Given the description of an element on the screen output the (x, y) to click on. 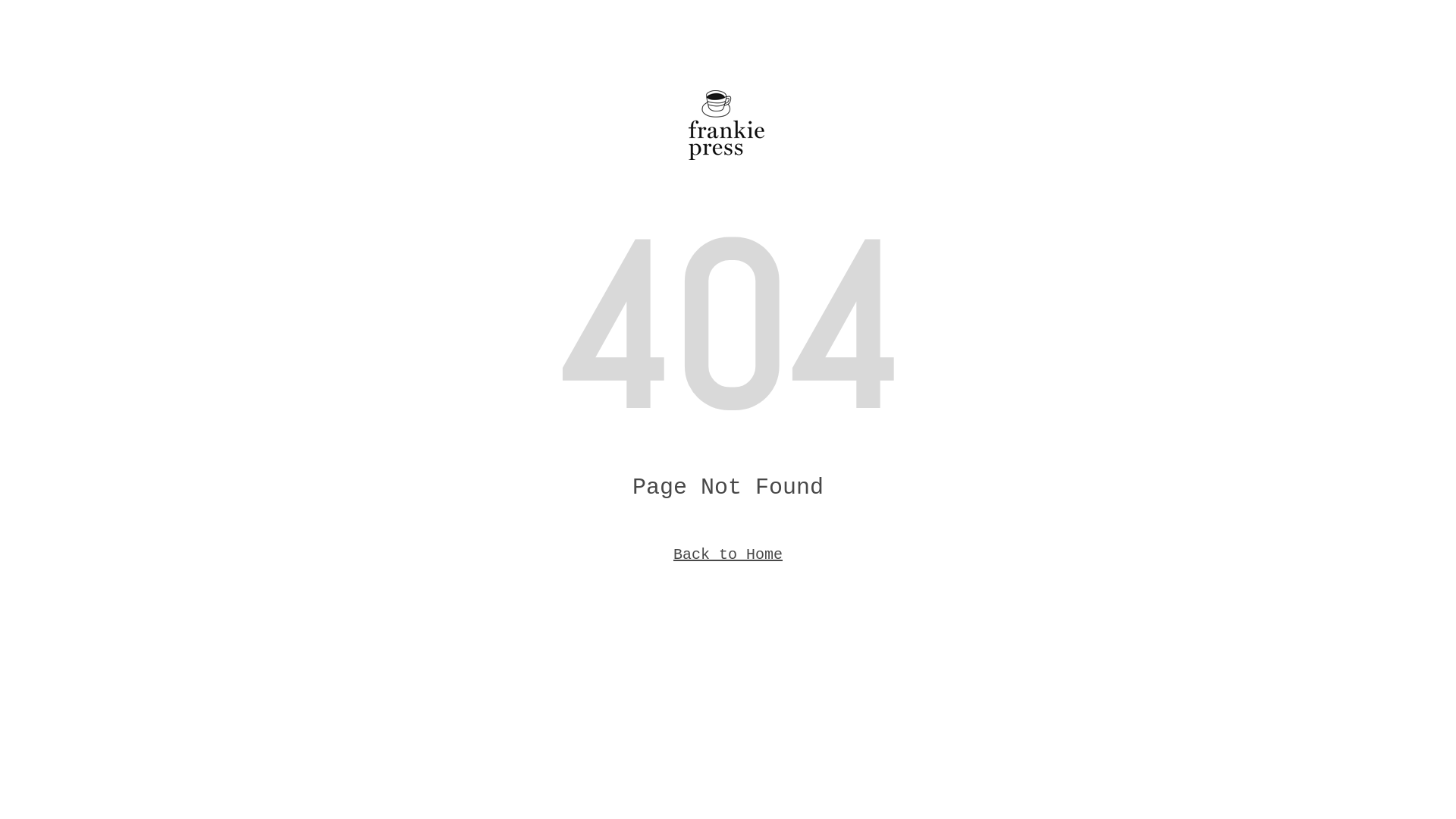
Back to Home Element type: text (727, 554)
